Given the description of an element on the screen output the (x, y) to click on. 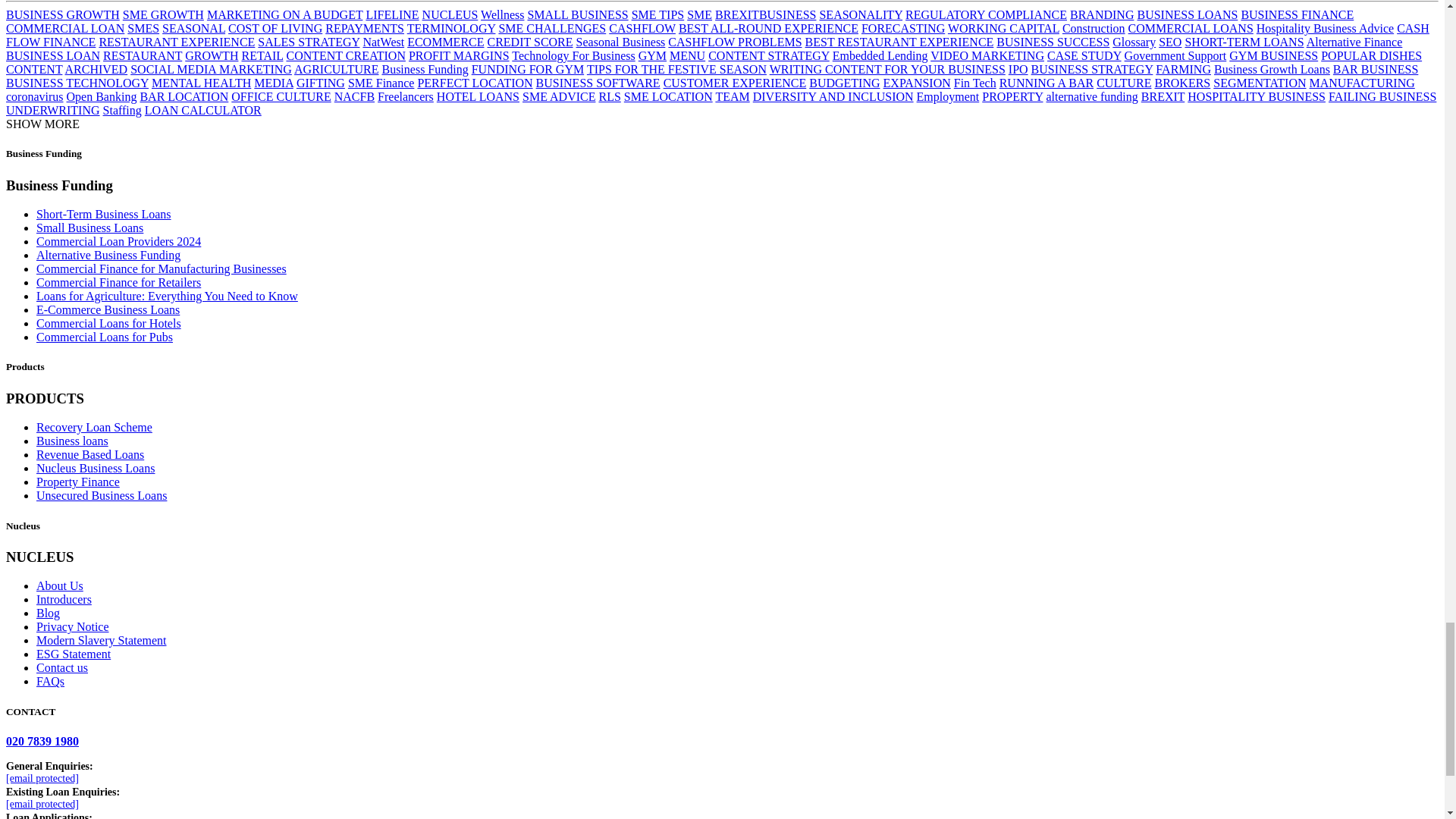
BUSINESS GROWTH (62, 14)
LIFELINE (392, 14)
MARKETING ON A BUDGET (284, 14)
NUCLEUS (450, 14)
SMALL BUSINESS (577, 14)
SME GROWTH (162, 14)
Wellness (502, 14)
